Given the description of an element on the screen output the (x, y) to click on. 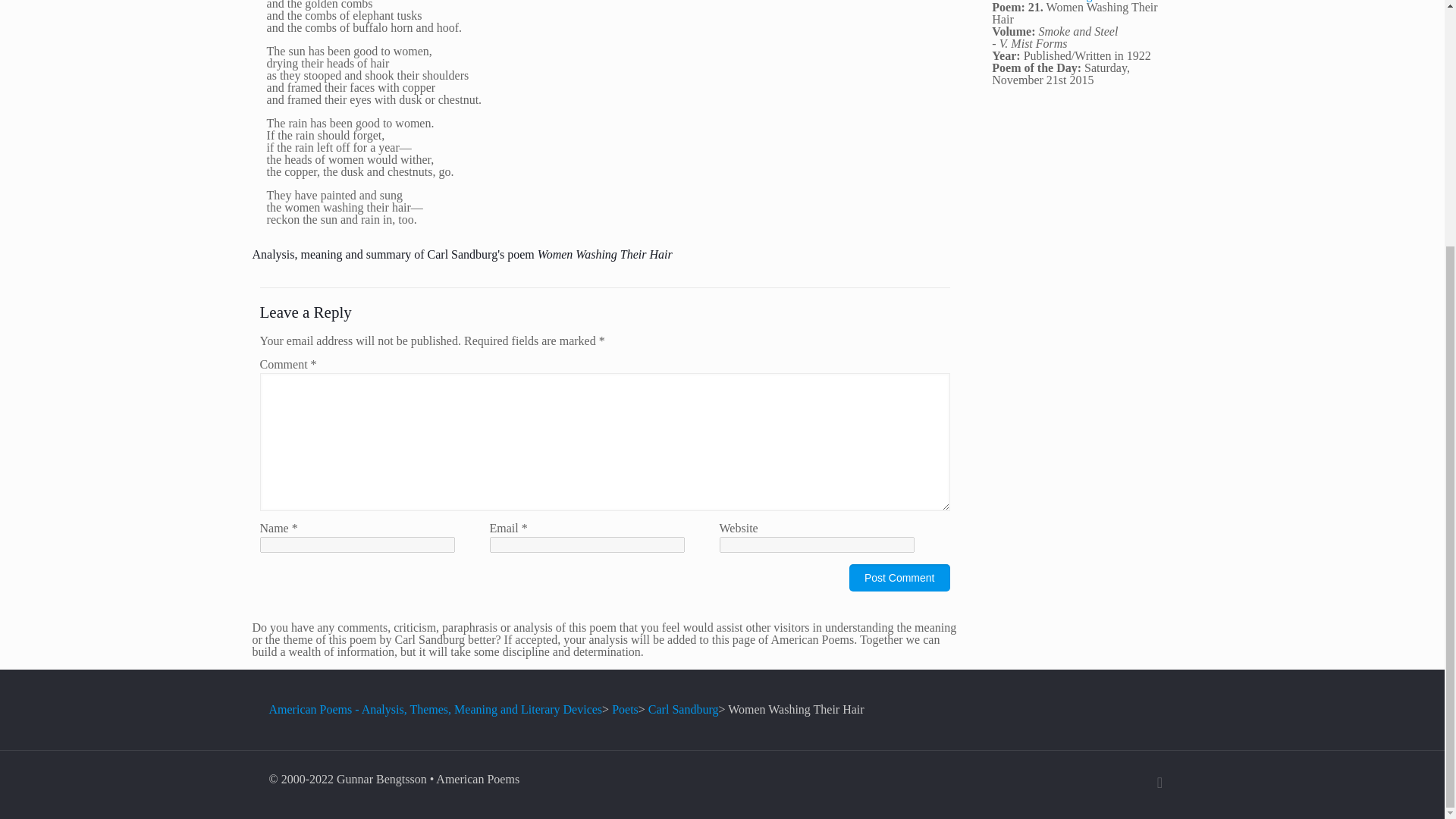
Go to Poets. (625, 708)
Post Comment (899, 577)
Carl Sandburg (1057, 0)
Go to Carl Sandburg. (683, 708)
Post Comment (899, 577)
Poets (625, 708)
Carl Sandburg (683, 708)
